Given the description of an element on the screen output the (x, y) to click on. 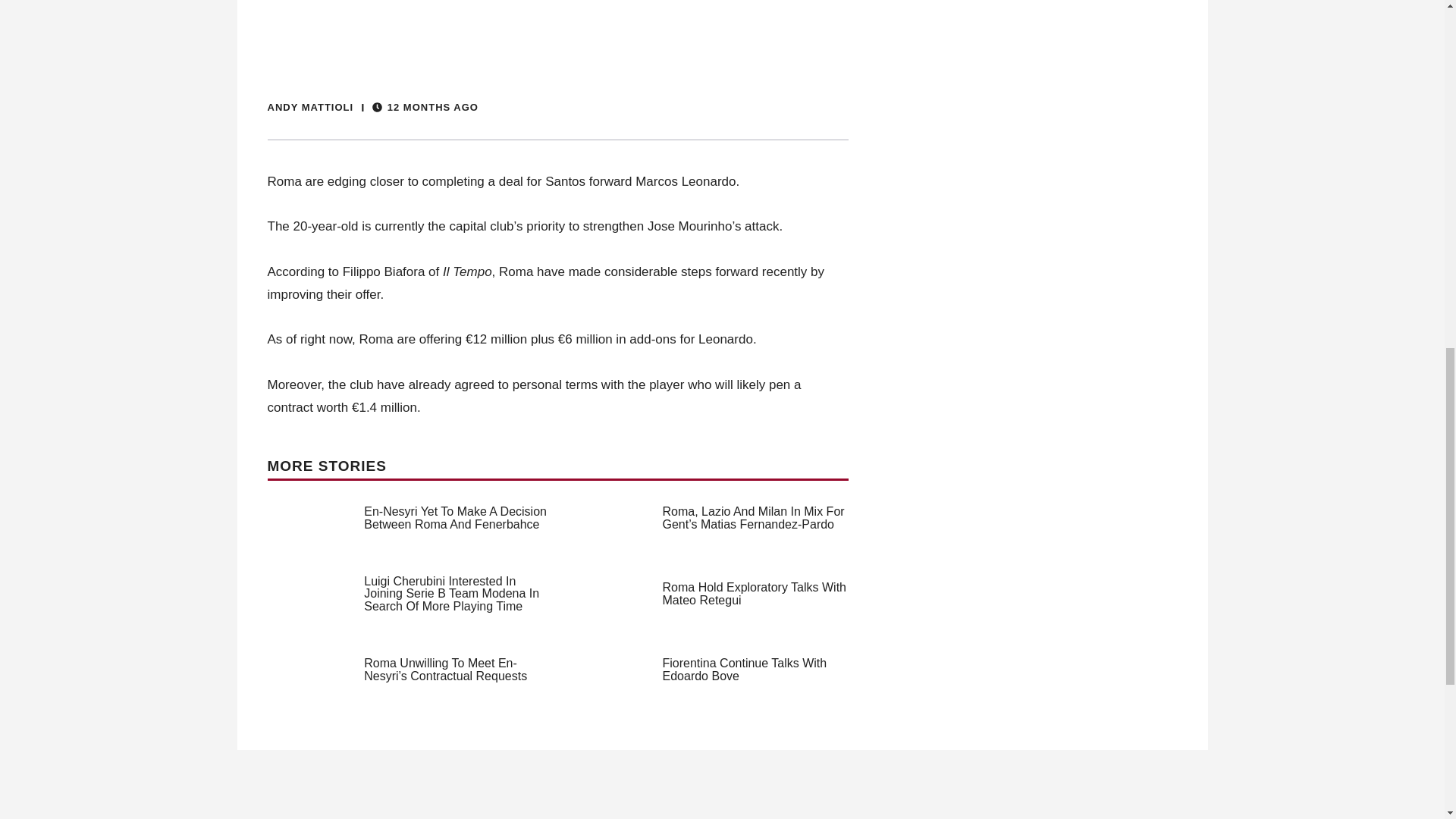
En-Nesyri Yet To Make A Decision Between Roma And Fenerbahce (455, 517)
Fiorentina Continue Talks With Edoardo Bove (744, 669)
Roma Hold Exploratory Talks With Mateo Retegui (753, 593)
